Given the description of an element on the screen output the (x, y) to click on. 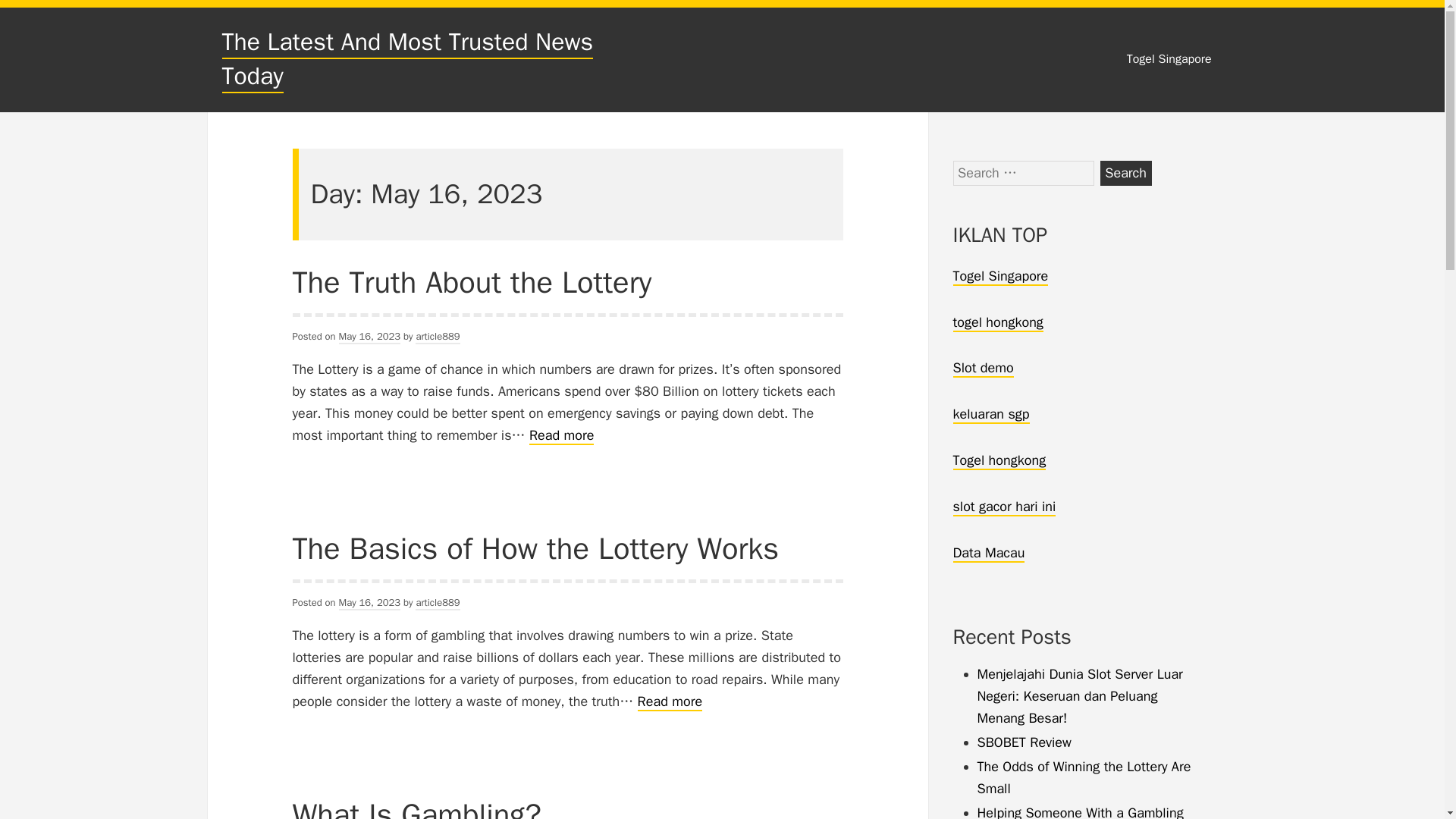
Search (1125, 173)
Search (1125, 173)
SBOBET Review (1023, 742)
Slot demo (982, 368)
The Basics of How the Lottery Works (535, 548)
article889 (437, 336)
Togel hongkong (998, 461)
May 16, 2023 (370, 603)
Togel Singapore (1000, 276)
keluaran sgp (990, 414)
What Is Gambling? (416, 807)
Search (1125, 173)
Helping Someone With a Gambling Problem (1079, 811)
